Given the description of an element on the screen output the (x, y) to click on. 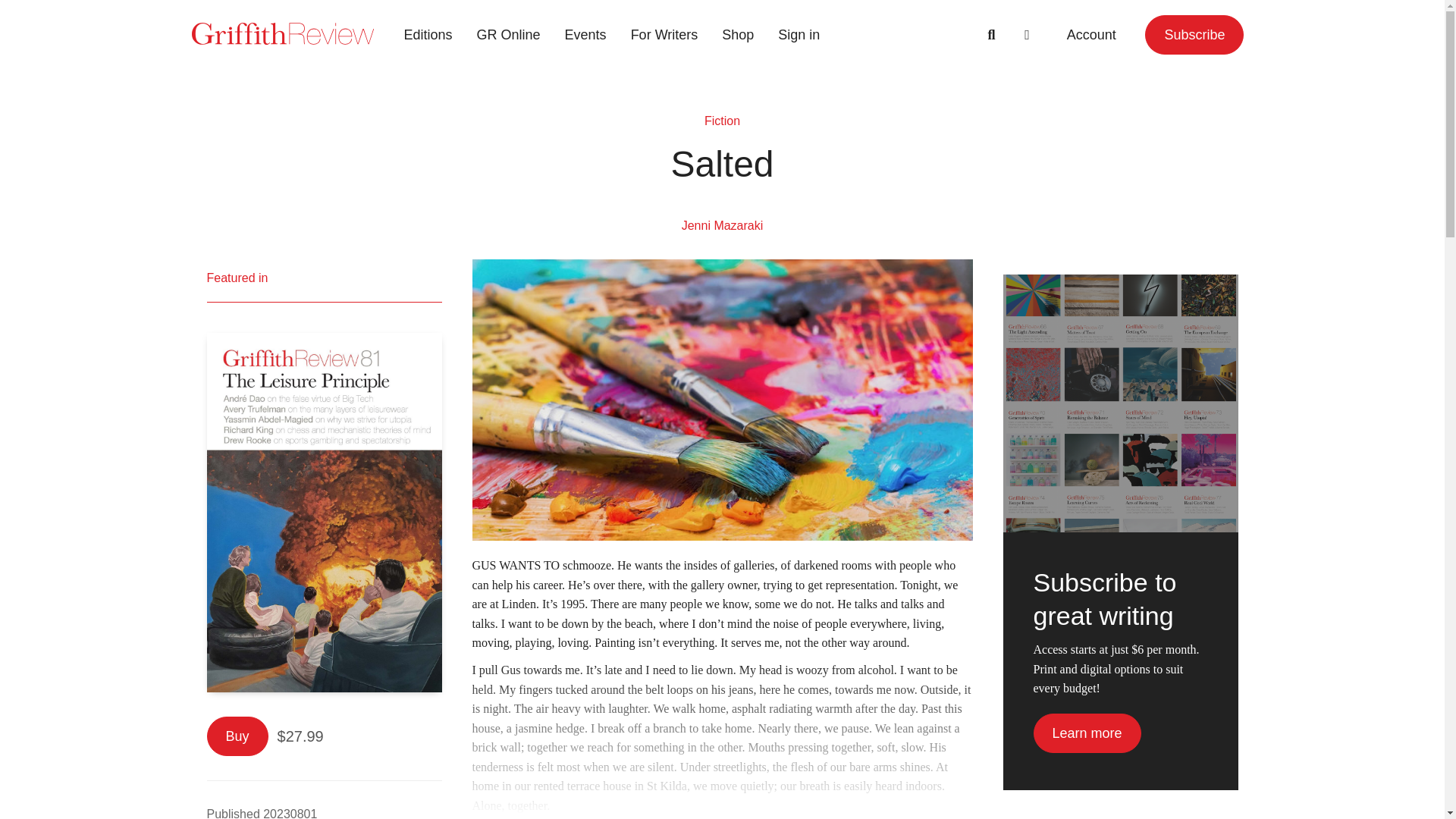
Shop (737, 34)
For Writers (664, 34)
Events (585, 34)
Account (1090, 34)
Jenni Mazaraki (721, 225)
Editions (427, 34)
Buy (236, 735)
GR Online (508, 34)
Sign in (798, 34)
Fiction (721, 120)
Subscribe (1193, 34)
